Given the description of an element on the screen output the (x, y) to click on. 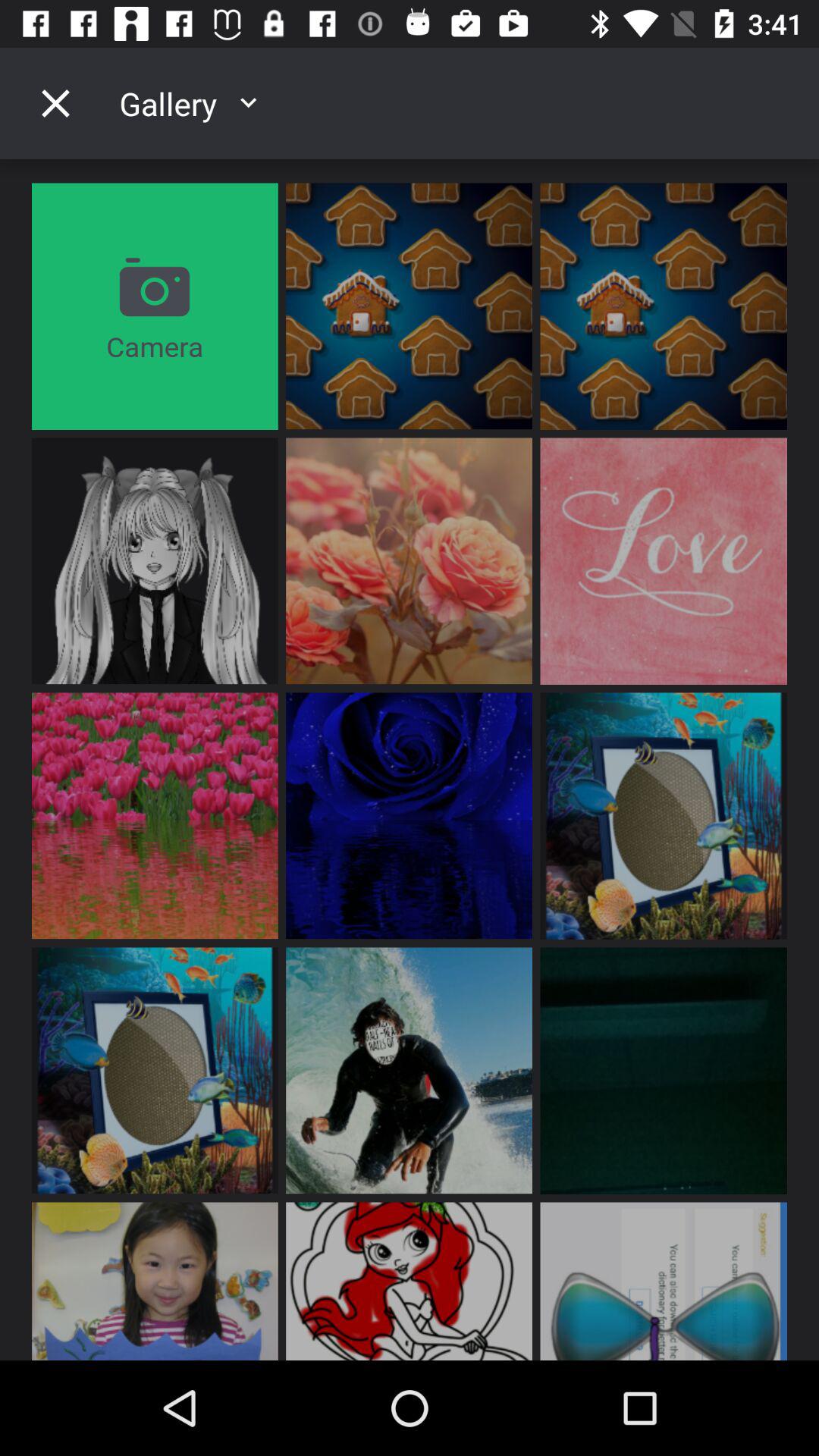
turn on the icon above camera (55, 103)
